Given the description of an element on the screen output the (x, y) to click on. 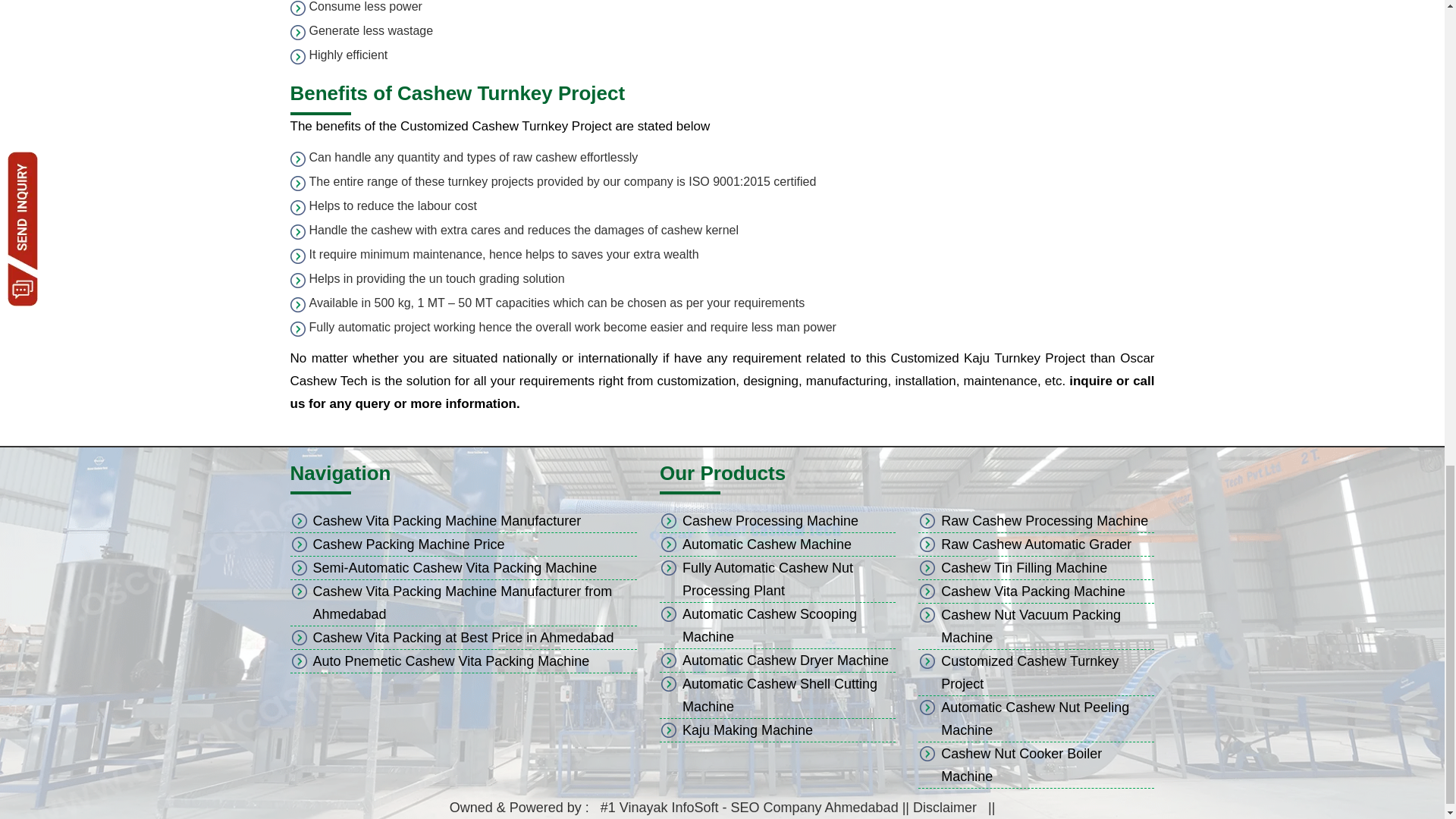
Automatic Cashew Nut Peeling Machine (1034, 718)
Cashew Nut Vacuum Packing Machine (1030, 626)
Disclaimer (944, 807)
Automatic Cashew Scooping Machine (769, 625)
Fully Automatic Cashew Nut Processing Plant (767, 579)
Cashew Tin Filling Machine (1023, 567)
Customized Cashew Turnkey Project (1029, 672)
Cashew Nut Cooker Boiler Machine (1021, 764)
Kaju Making Machine (747, 729)
Cashew Processing Machine (770, 520)
Cashew Vita Packing Machine (1032, 590)
Automatic Cashew Shell Cutting Machine (779, 695)
Automatic Cashew Machine (766, 544)
Raw Cashew Processing Machine (1044, 520)
Raw Cashew Automatic Grader (1035, 544)
